Given the description of an element on the screen output the (x, y) to click on. 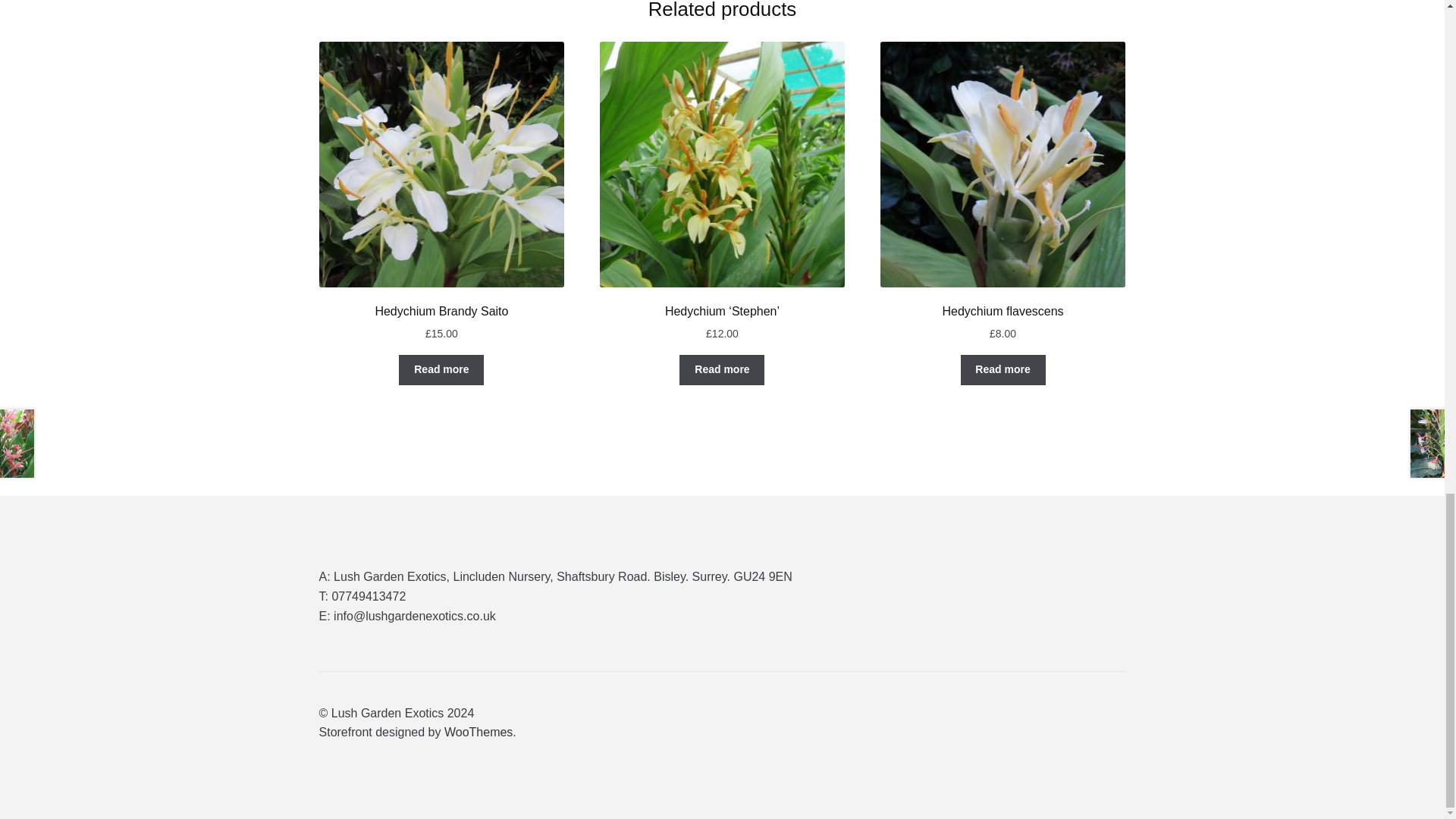
Read more (440, 369)
Read more (721, 369)
WooThemes (478, 731)
Read more (1002, 369)
